Given the description of an element on the screen output the (x, y) to click on. 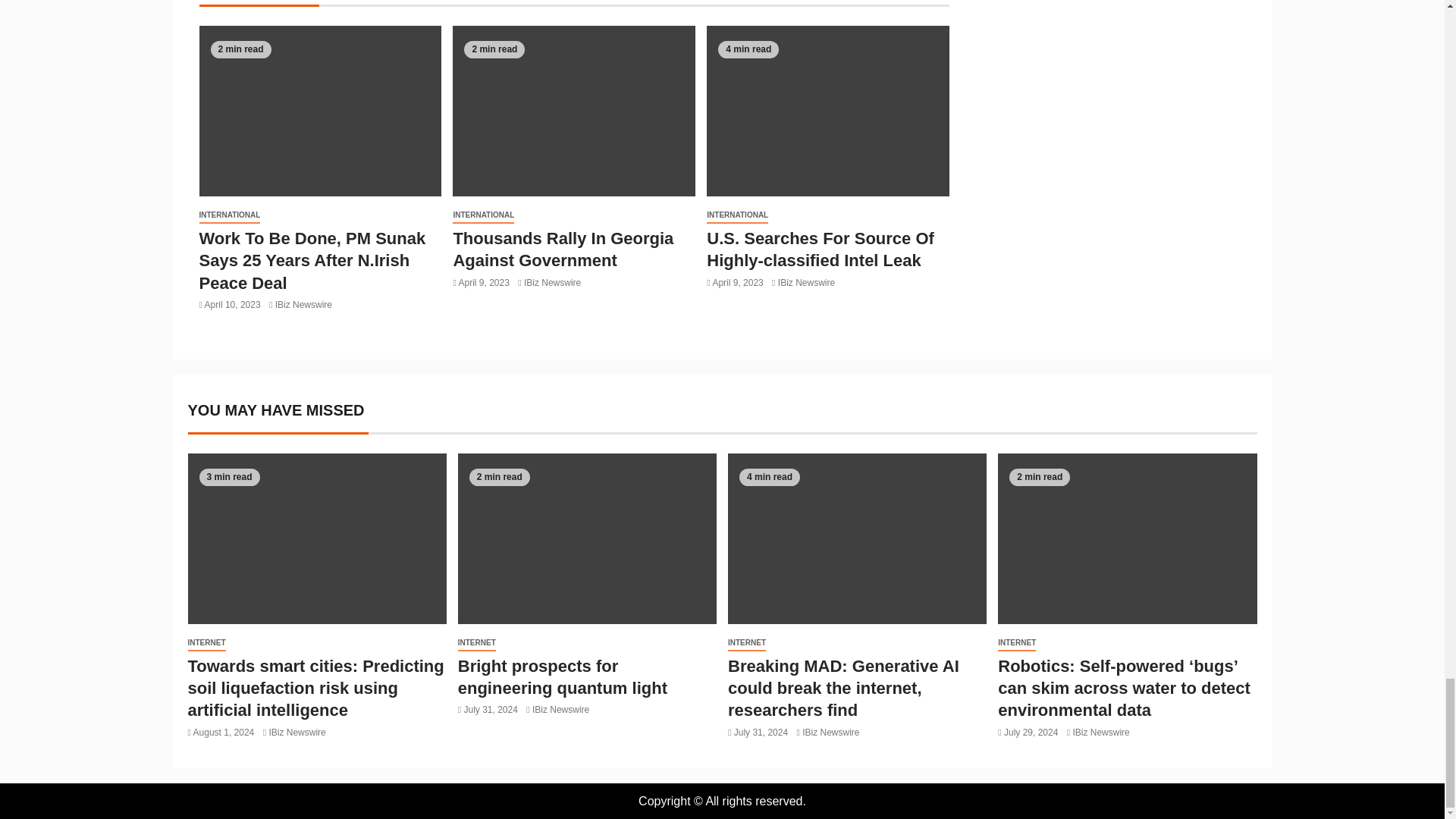
IBiz Newswire (805, 282)
U.S. Searches For Source Of Highly-classified Intel Leak (820, 249)
Thousands Rally In Georgia Against Government (562, 249)
INTERNATIONAL (229, 215)
IBiz Newswire (303, 304)
INTERNATIONAL (482, 215)
INTERNATIONAL (737, 215)
IBiz Newswire (552, 282)
